Given the description of an element on the screen output the (x, y) to click on. 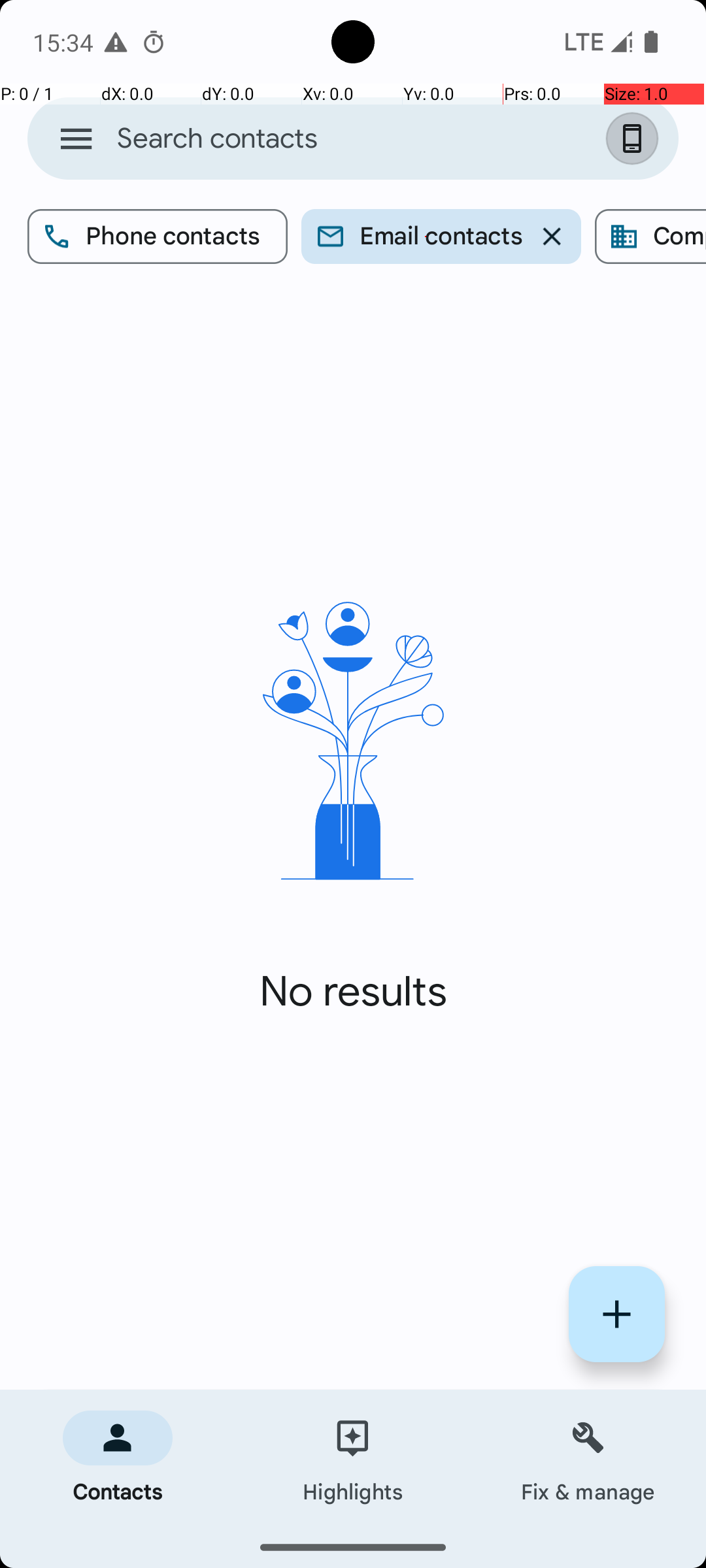
Highlights Element type: android.widget.FrameLayout (352, 1457)
Fix & manage Element type: android.widget.FrameLayout (588, 1457)
Open navigation drawer Element type: android.widget.ImageButton (75, 138)
Signed in as Device
Account and settings. Element type: android.widget.FrameLayout (634, 138)
No results Element type: android.widget.TextView (353, 991)
Phone contacts Element type: android.widget.Button (157, 236)
Email contacts Element type: android.widget.Button (441, 236)
